Given the description of an element on the screen output the (x, y) to click on. 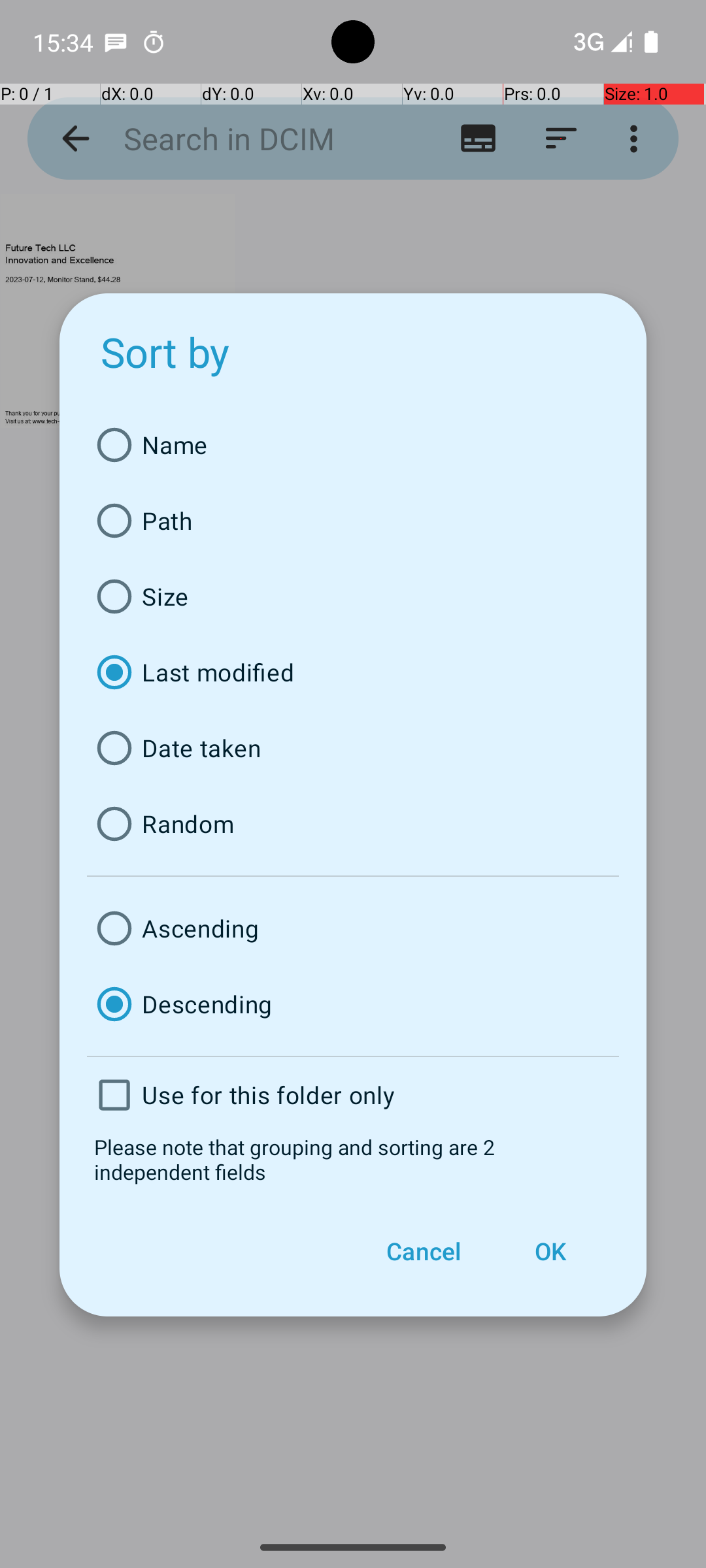
Use for this folder only Element type: android.widget.CheckBox (352, 1094)
Please note that grouping and sorting are 2 independent fields Element type: android.widget.TextView (352, 1158)
Path Element type: android.widget.RadioButton (352, 520)
Last modified Element type: android.widget.RadioButton (352, 672)
Date taken Element type: android.widget.RadioButton (352, 747)
Random Element type: android.widget.RadioButton (352, 823)
